Given the description of an element on the screen output the (x, y) to click on. 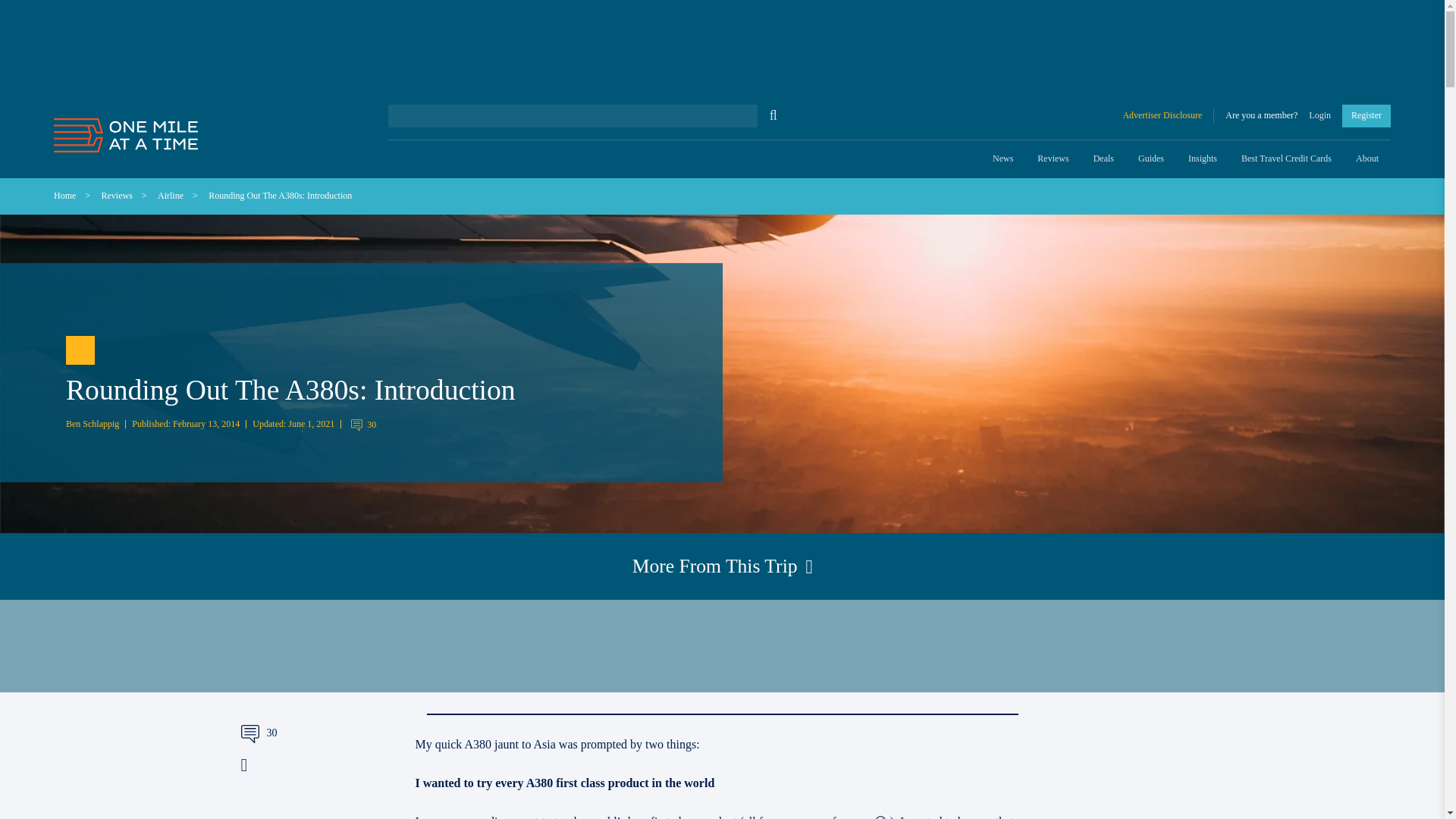
Best Travel Credit Cards (1285, 159)
Insights (1202, 159)
Deals (1103, 159)
Best Travel Credit Cards (1285, 159)
Login (1319, 115)
About (1366, 159)
Register (1366, 115)
Insights (1202, 159)
More From This Trip (721, 566)
Rounding Out The A380s: Introduction (280, 195)
News (1002, 159)
Reviews (1052, 159)
Advertiser Disclosure (1168, 115)
News (1002, 159)
Guides (1150, 159)
